Given the description of an element on the screen output the (x, y) to click on. 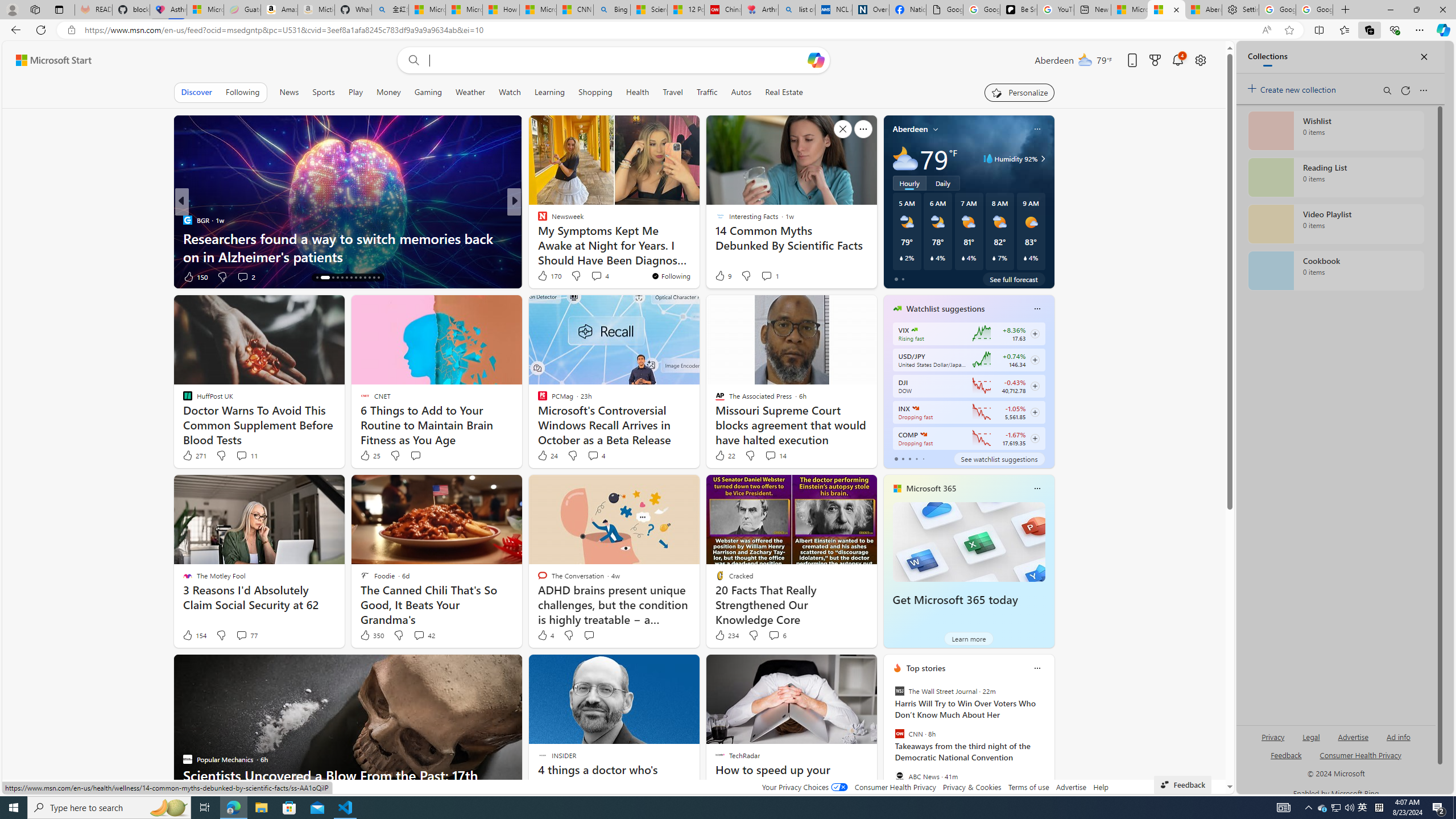
My location (936, 128)
View comments 77 Comment (241, 635)
Simply More Time (187, 219)
25 Like (368, 455)
Learn more (967, 638)
AutomationID: tab-16 (328, 277)
View comments 73 Comment (592, 276)
